Given the description of an element on the screen output the (x, y) to click on. 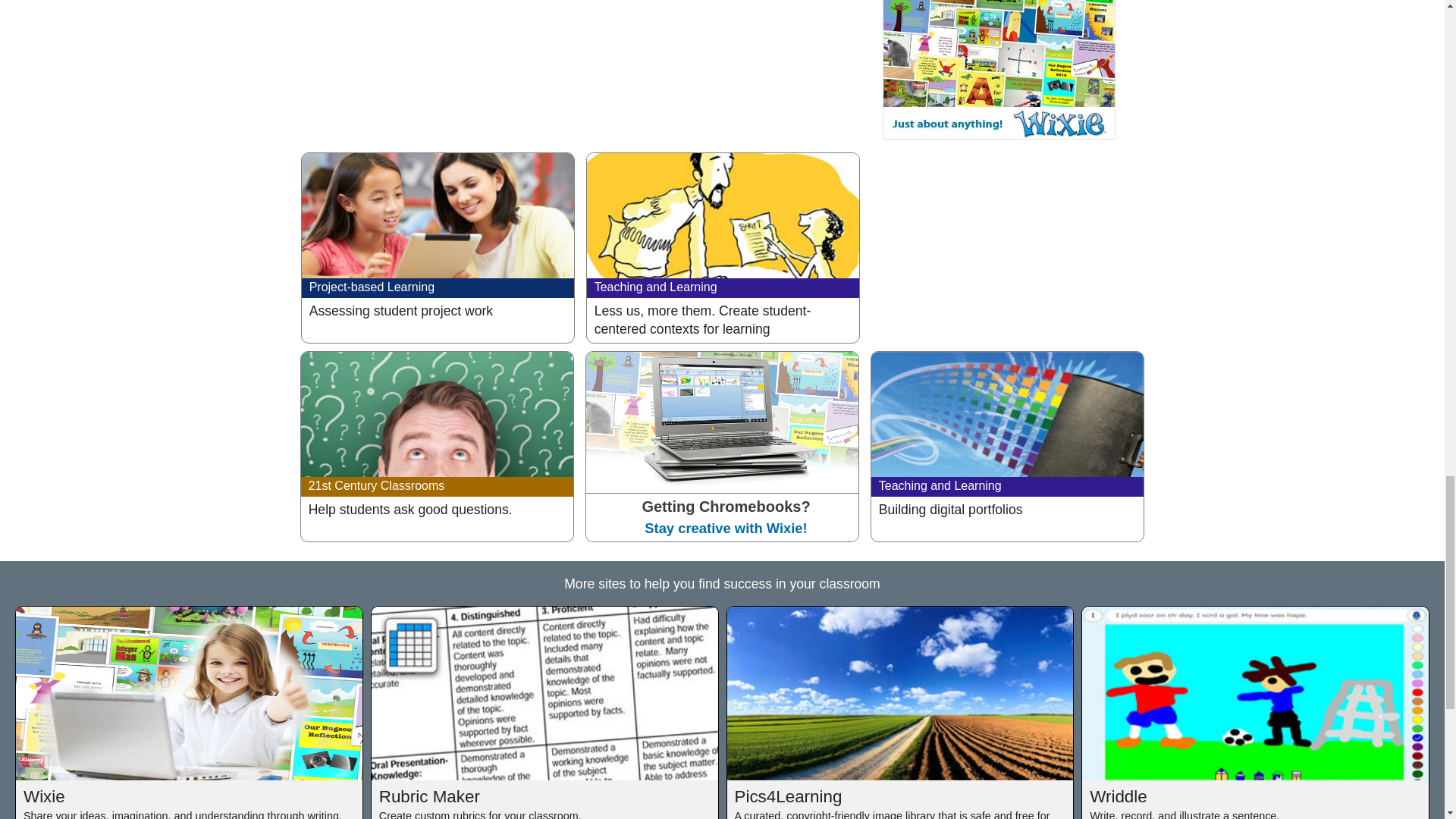
Teaching and Learning (655, 286)
Building digital portfolios (1010, 562)
21st Century Classrooms (376, 485)
Project-based Learning (370, 286)
What can your students create? (998, 69)
Help students ask good questions. (439, 562)
Assessing student project work (440, 364)
Teaching and Learning (940, 485)
